Given the description of an element on the screen output the (x, y) to click on. 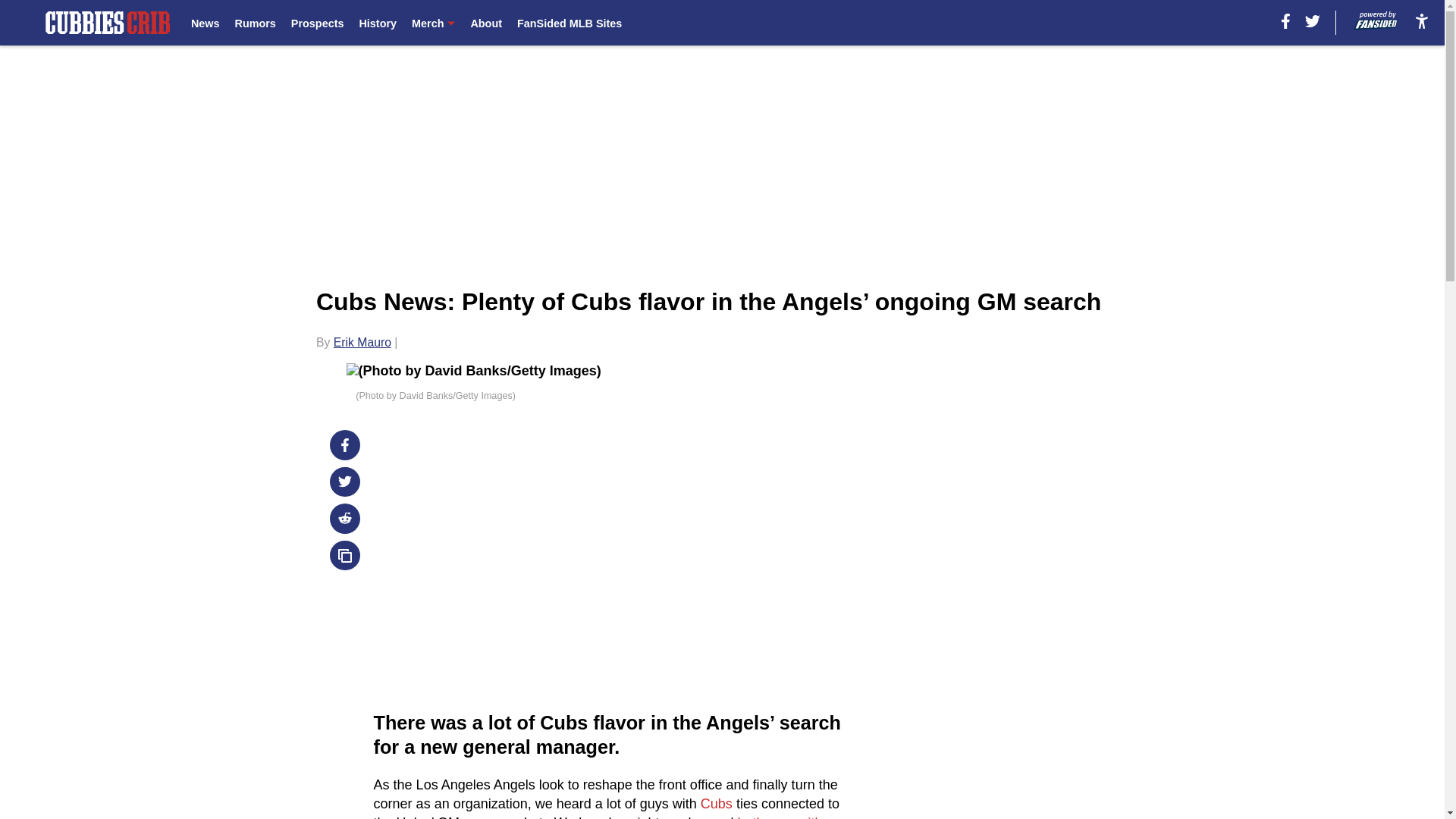
FanSided MLB Sites (568, 23)
About (486, 23)
Prospects (317, 23)
History (377, 23)
News (204, 23)
Erik Mauro (362, 341)
Rumors (254, 23)
Cubs (716, 803)
